Given the description of an element on the screen output the (x, y) to click on. 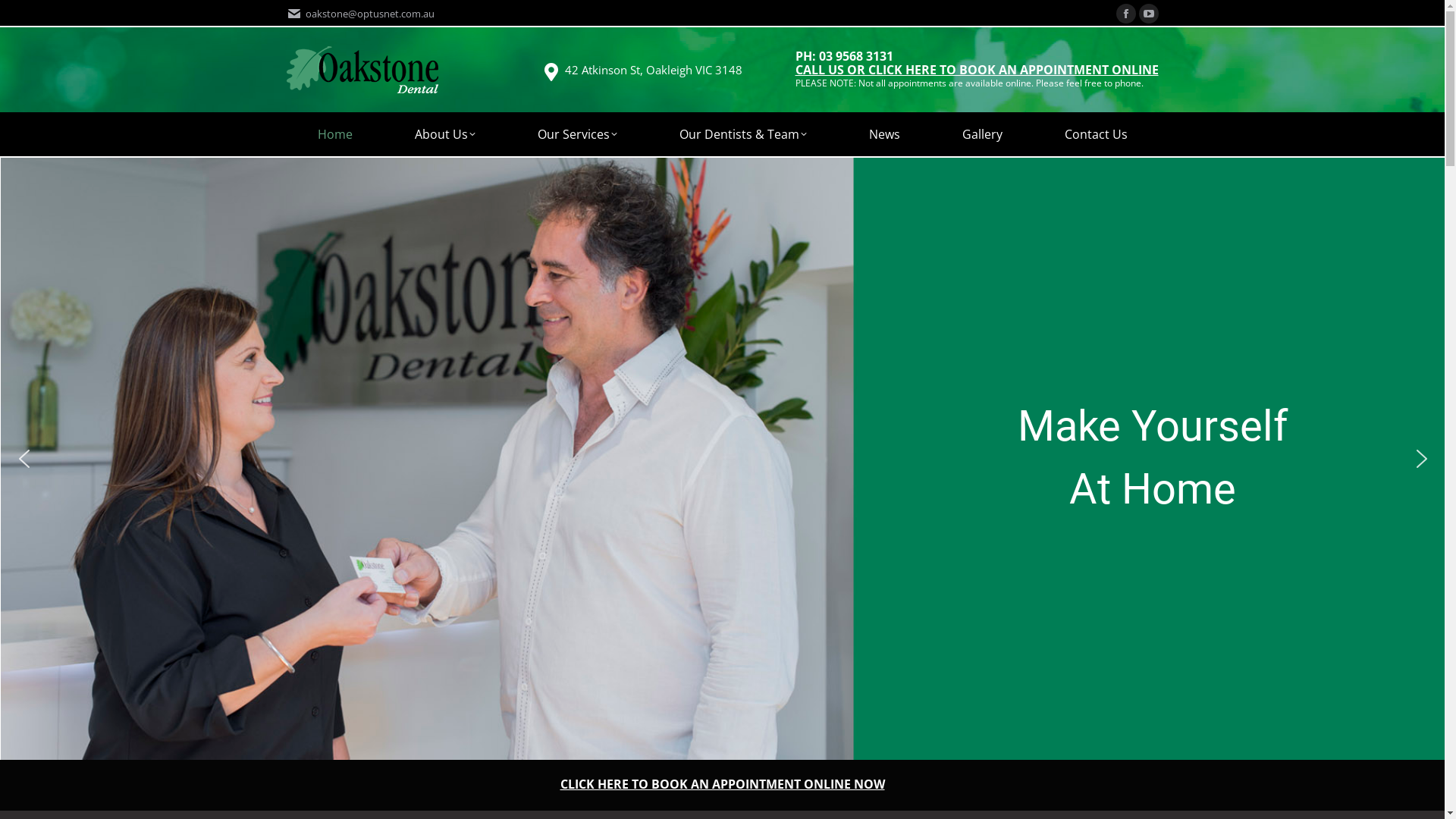
CLICK HERE TO BOOK AN APPOINTMENT ONLINE NOW Element type: text (721, 784)
Our Services Element type: text (577, 134)
Our Dentists & Team Element type: text (742, 134)
CALL US OR CLICK HERE TO BOOK AN APPOINTMENT ONLINE Element type: text (975, 70)
News Element type: text (883, 134)
About Us Element type: text (444, 134)
Gallery Element type: text (982, 134)
Facebook page opens in new window Element type: text (1125, 13)
Home Element type: text (334, 134)
YouTube page opens in new window Element type: text (1148, 13)
Contact Us Element type: text (1094, 134)
